Given the description of an element on the screen output the (x, y) to click on. 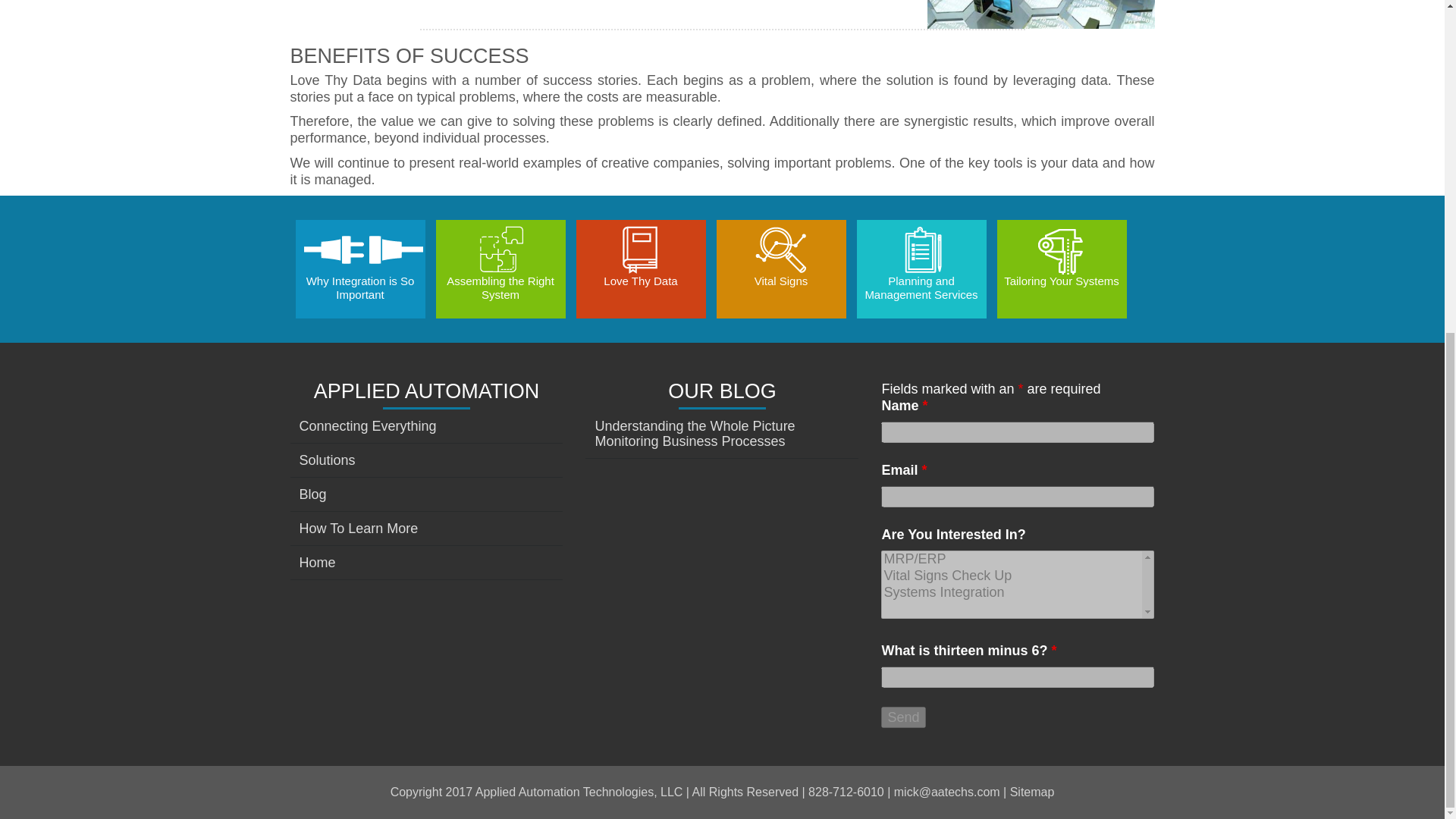
Why Integration is So Important (359, 287)
Vital Signs (781, 280)
Love Thy Data (640, 280)
Sitemap (1032, 791)
How To Learn More (425, 528)
Connecting Everything (425, 426)
Tailoring Your Systems (1061, 280)
Blog (425, 494)
Send (902, 717)
Assembling the Right System (500, 287)
Home (425, 562)
Planning and Management Services (920, 287)
Solutions (425, 459)
